Given the description of an element on the screen output the (x, y) to click on. 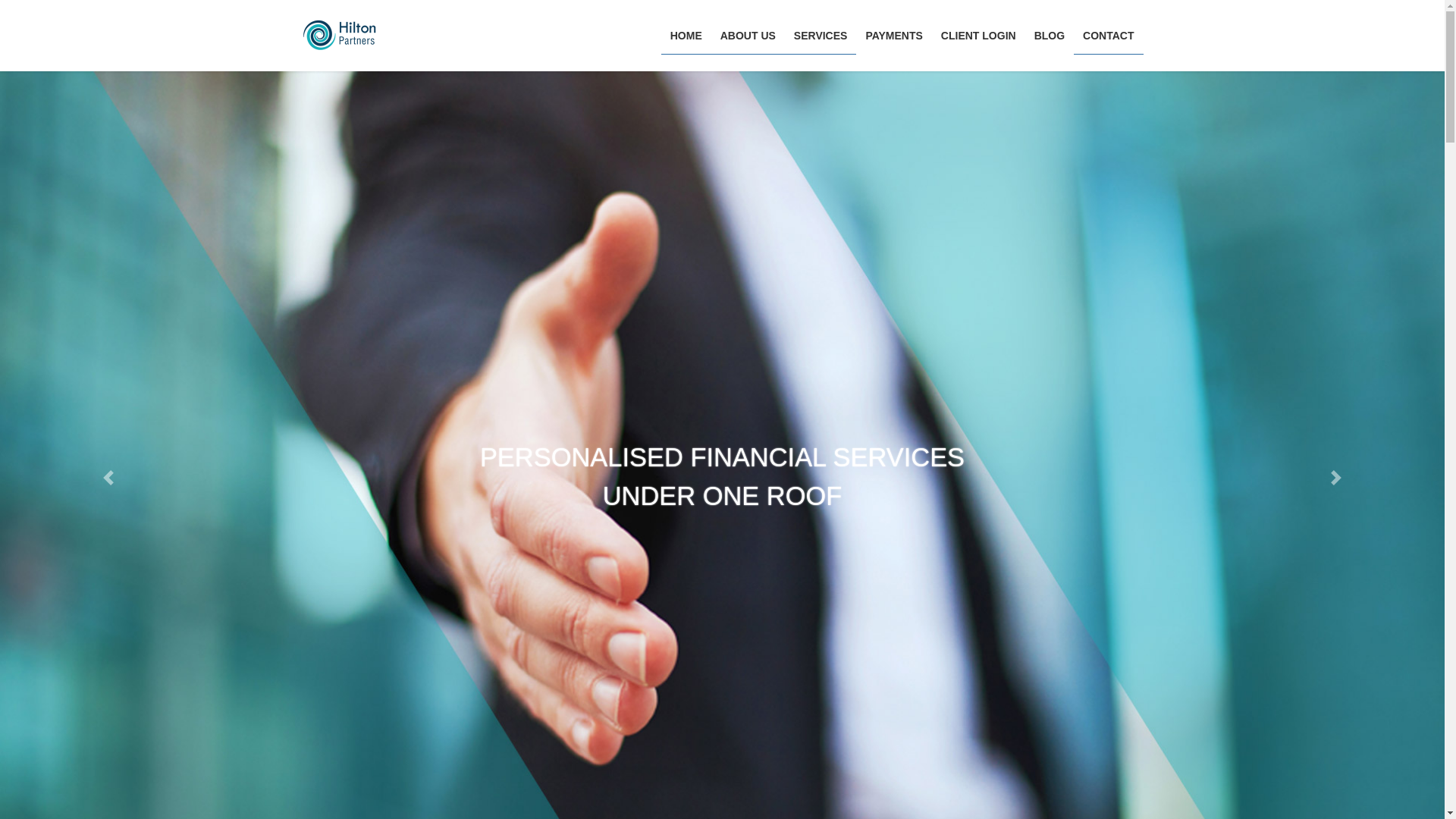
HOME (686, 36)
CLIENT LOGIN (978, 36)
ABOUT US (747, 36)
PAYMENTS (893, 36)
BLOG (1049, 36)
CONTACT (1108, 36)
SERVICES (820, 36)
